Given the description of an element on the screen output the (x, y) to click on. 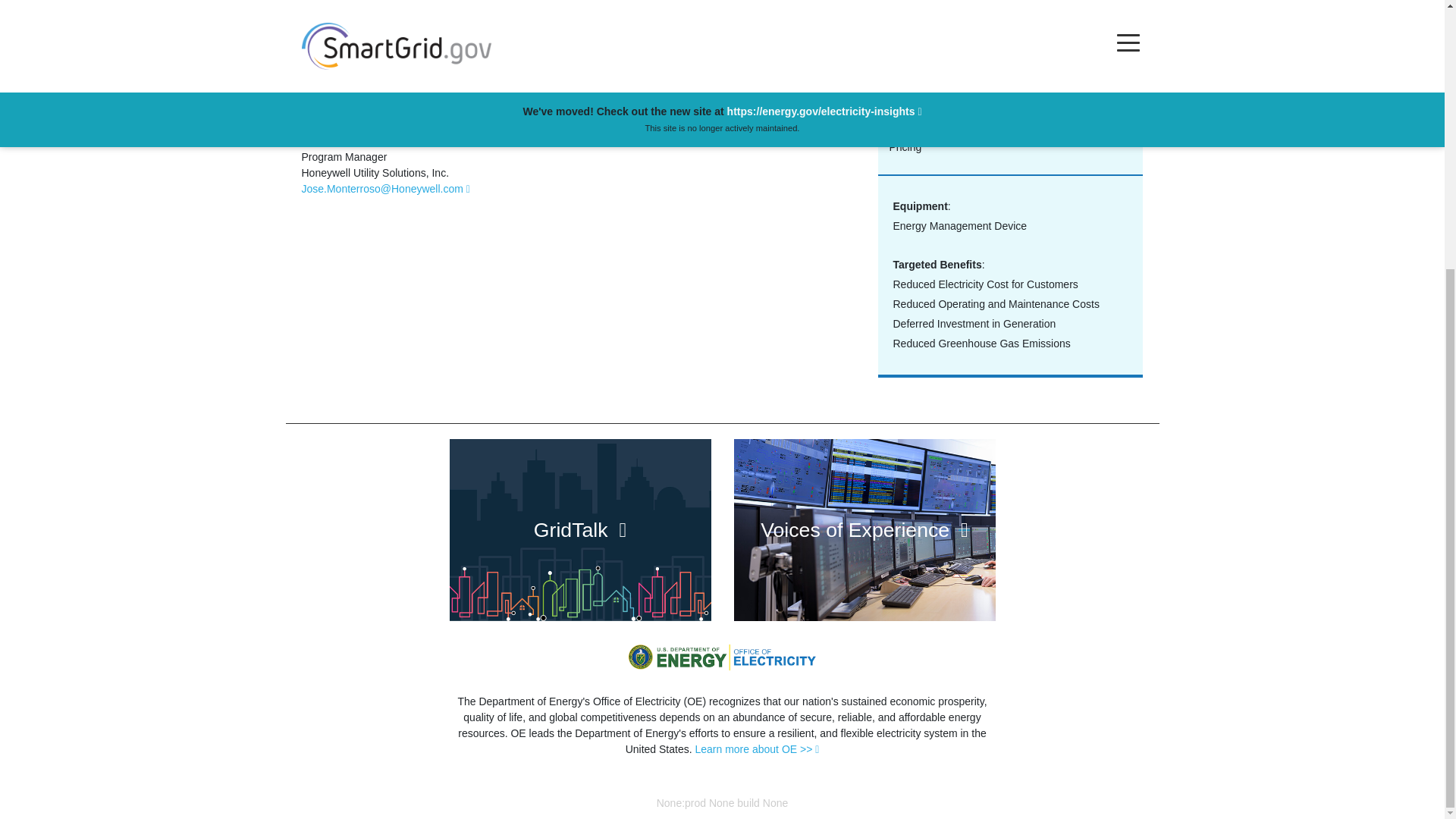
Check out the new Grid Talk Podcast (579, 529)
Voices of Experience   (864, 529)
Check out the new Voices of Experience Podcast (864, 529)
GridTalk   (579, 529)
